Given the description of an element on the screen output the (x, y) to click on. 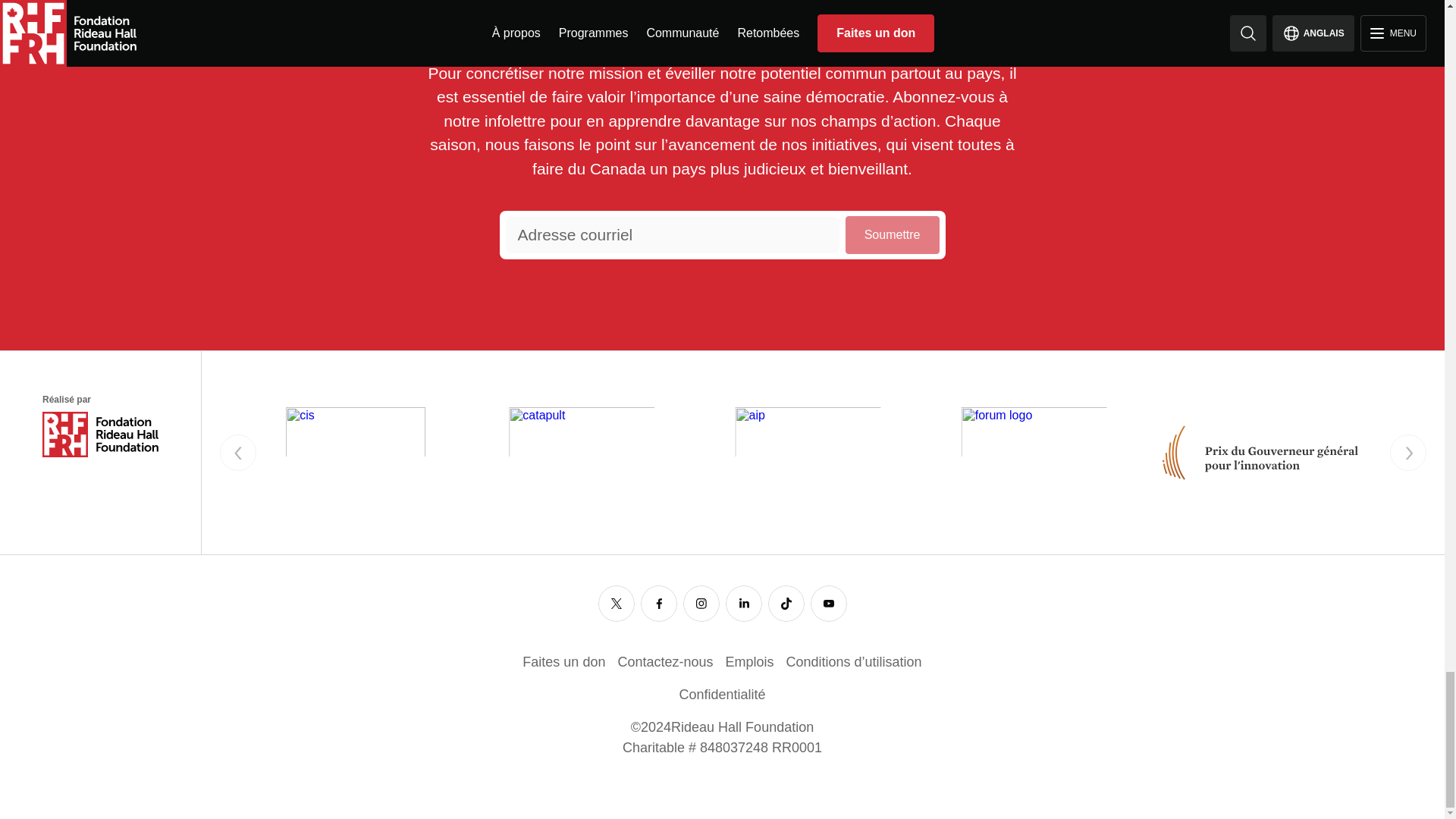
Soumettre (892, 234)
